Given the description of an element on the screen output the (x, y) to click on. 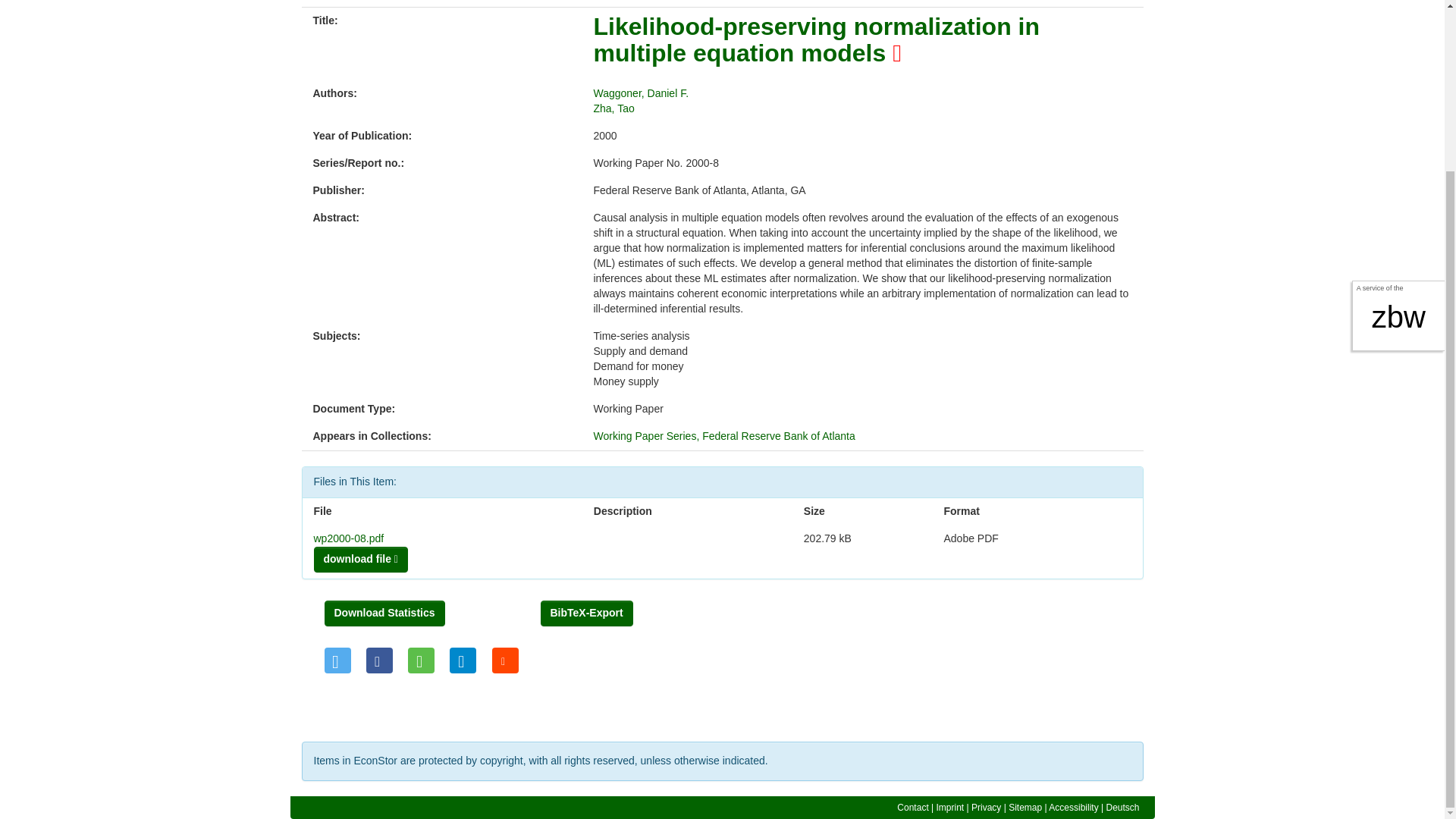
Bei Facebook teilen (379, 660)
Bei Telegram teilen (462, 660)
Bei Whatsapp teilen (420, 660)
Bei Twitter teilen (337, 660)
zbw (1398, 110)
Bei Reddit teilen (505, 660)
